Given the description of an element on the screen output the (x, y) to click on. 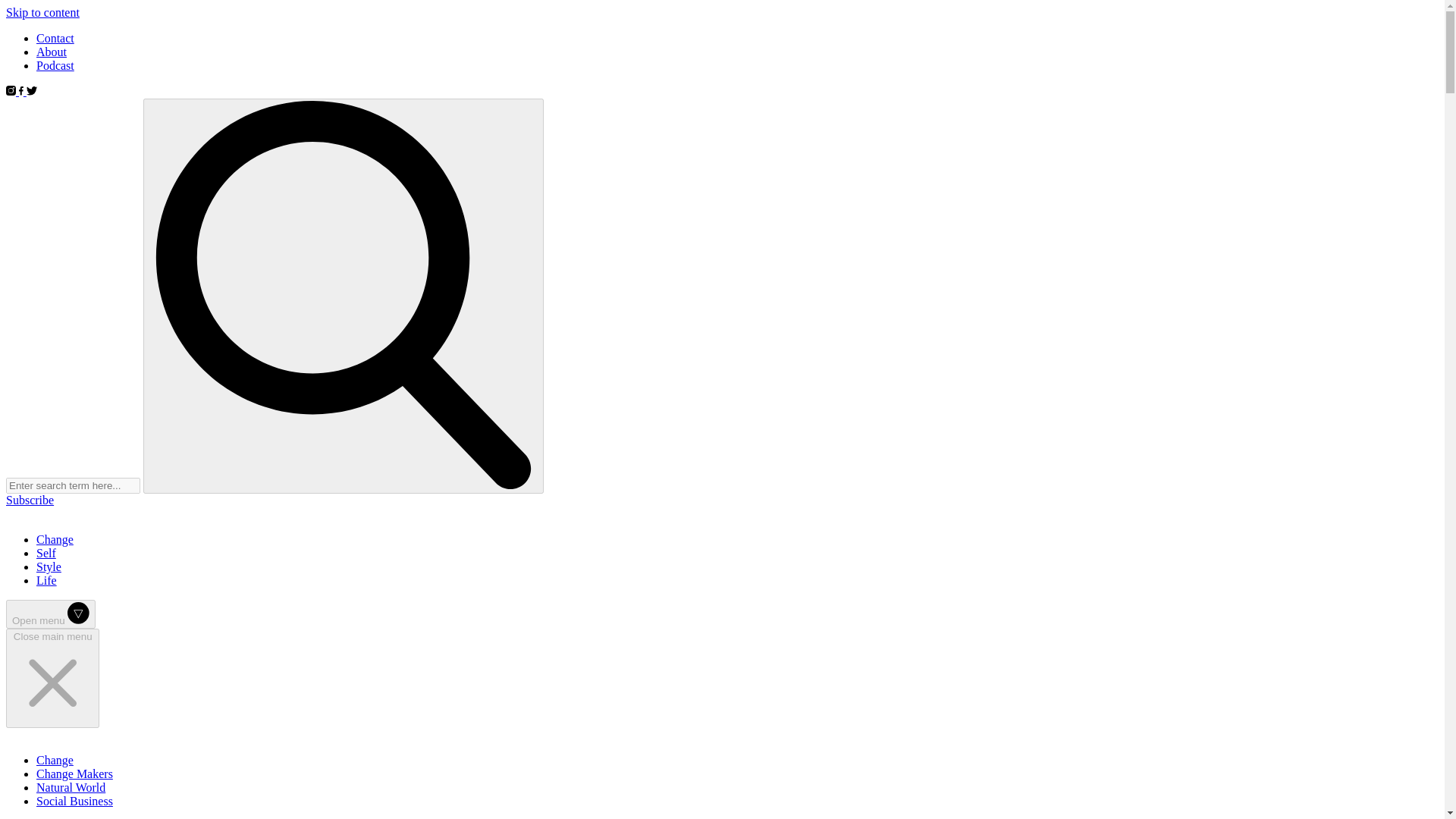
Contact (55, 38)
Close main menu (52, 678)
Self (46, 553)
Subscribe (29, 499)
About (51, 51)
Skip to content (42, 11)
Change Makers (74, 773)
Natural World (70, 787)
Social Business (74, 800)
Change (55, 539)
Open menu (50, 613)
Podcast (55, 65)
